Given the description of an element on the screen output the (x, y) to click on. 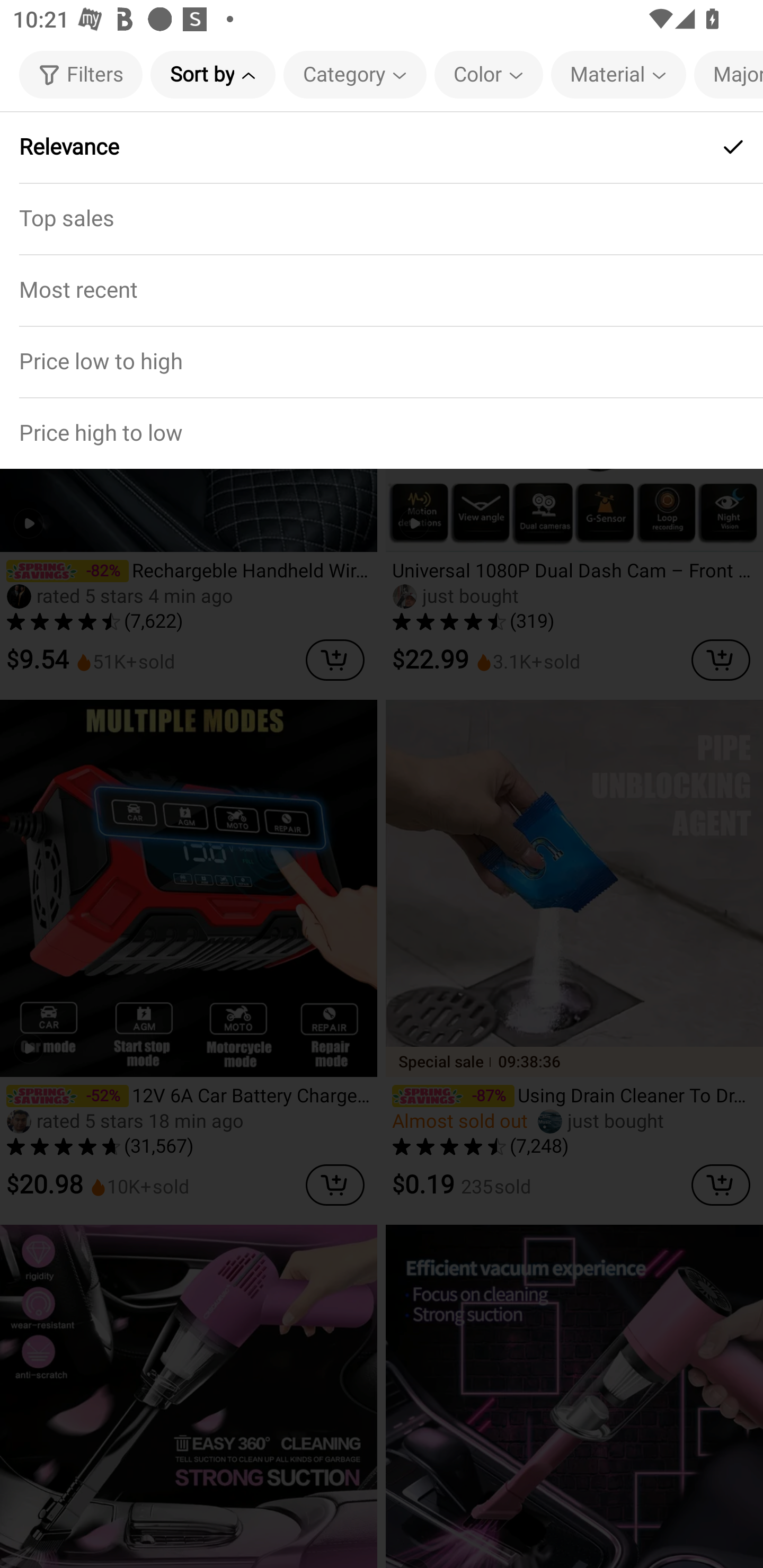
Filters (80, 74)
Sort by (212, 74)
Category (354, 74)
Color (488, 74)
Material (617, 74)
Major Material (728, 74)
Relevance (381, 147)
Top sales (381, 218)
Most recent (381, 290)
Price low to high (381, 361)
Price high to low (381, 432)
